Given the description of an element on the screen output the (x, y) to click on. 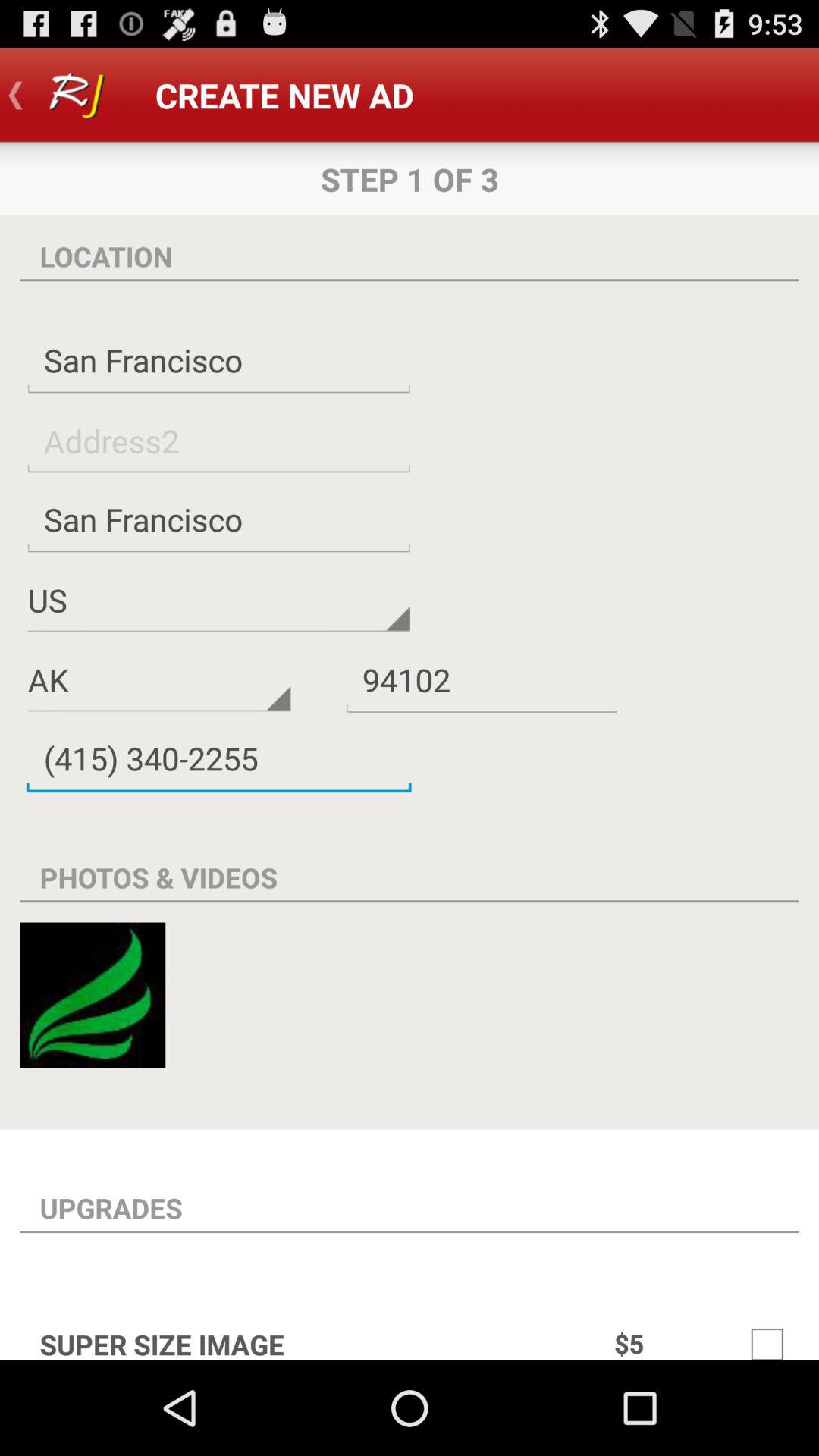
enter address (218, 440)
